Given the description of an element on the screen output the (x, y) to click on. 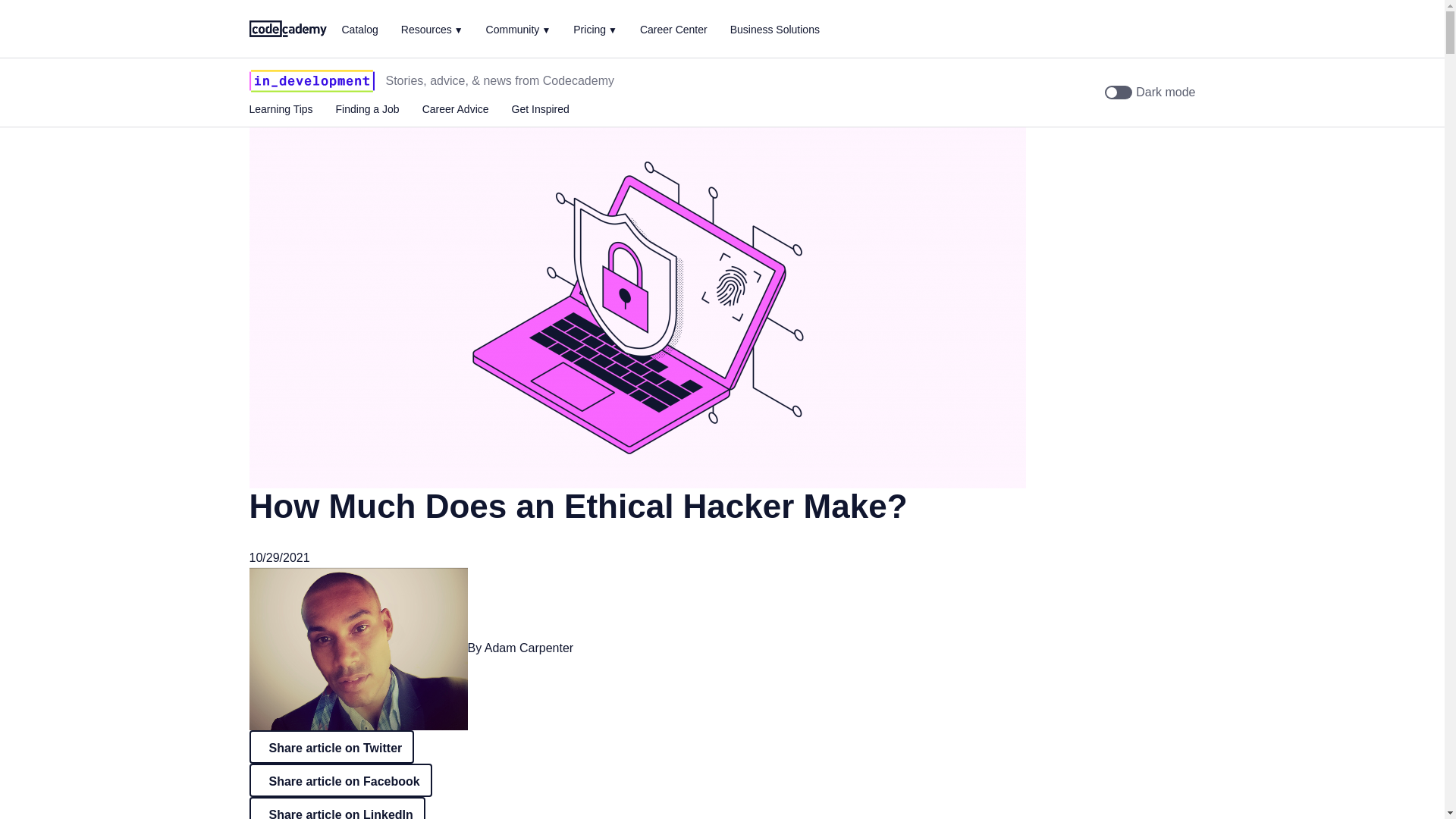
Share article on LinkedIn (336, 807)
Pricing (595, 28)
Get Inspired (540, 109)
Catalog (358, 29)
Codecademy Blog (287, 27)
Share article on Facebook (339, 779)
Learning Tips (280, 109)
Finding a Job (367, 109)
Adam Carpenter (528, 647)
Career Advice (455, 109)
